Given the description of an element on the screen output the (x, y) to click on. 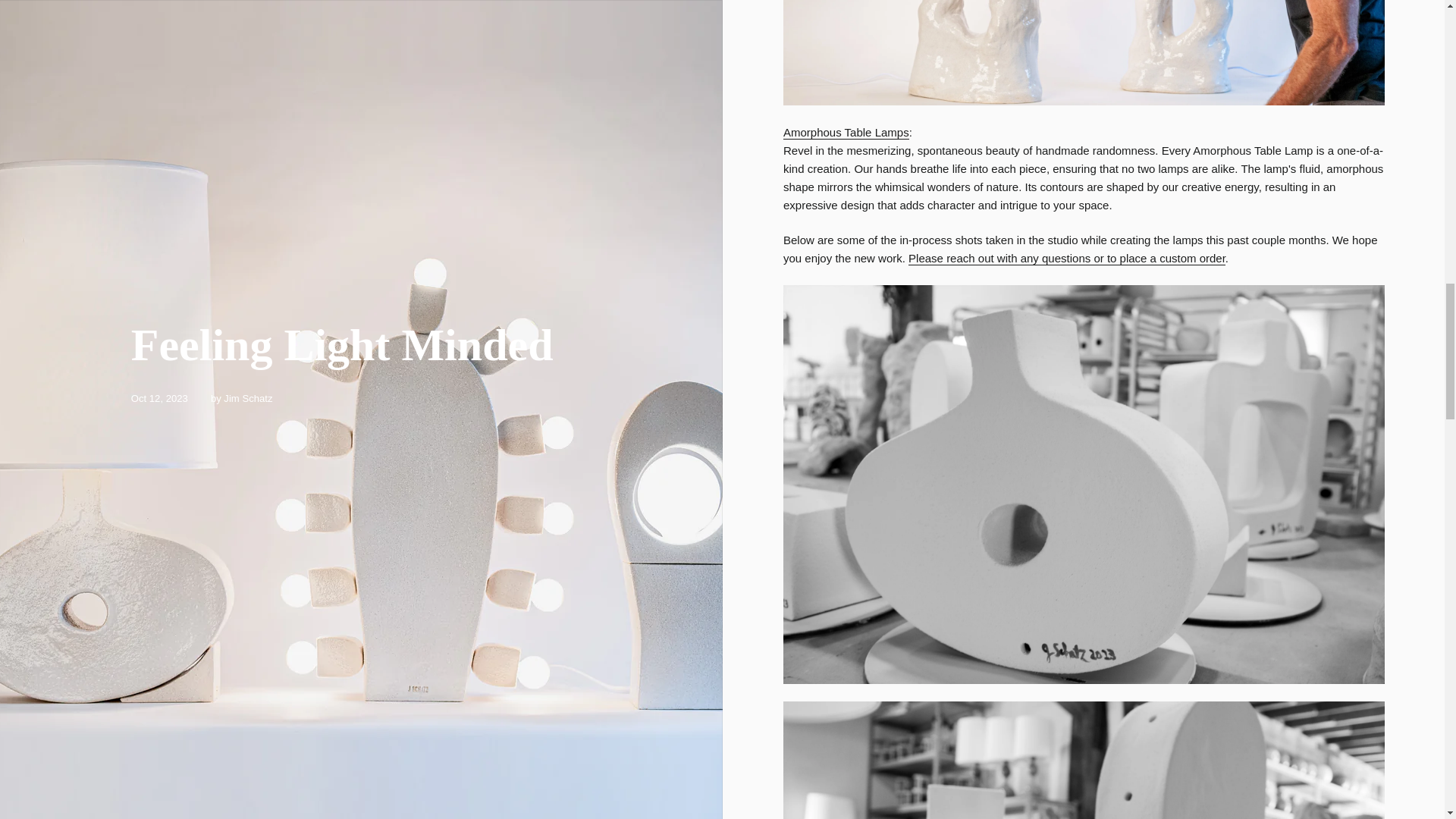
Contact Us (1066, 258)
Amorphous Table Lamps (845, 132)
Amorphous Table Lamps (845, 132)
